Given the description of an element on the screen output the (x, y) to click on. 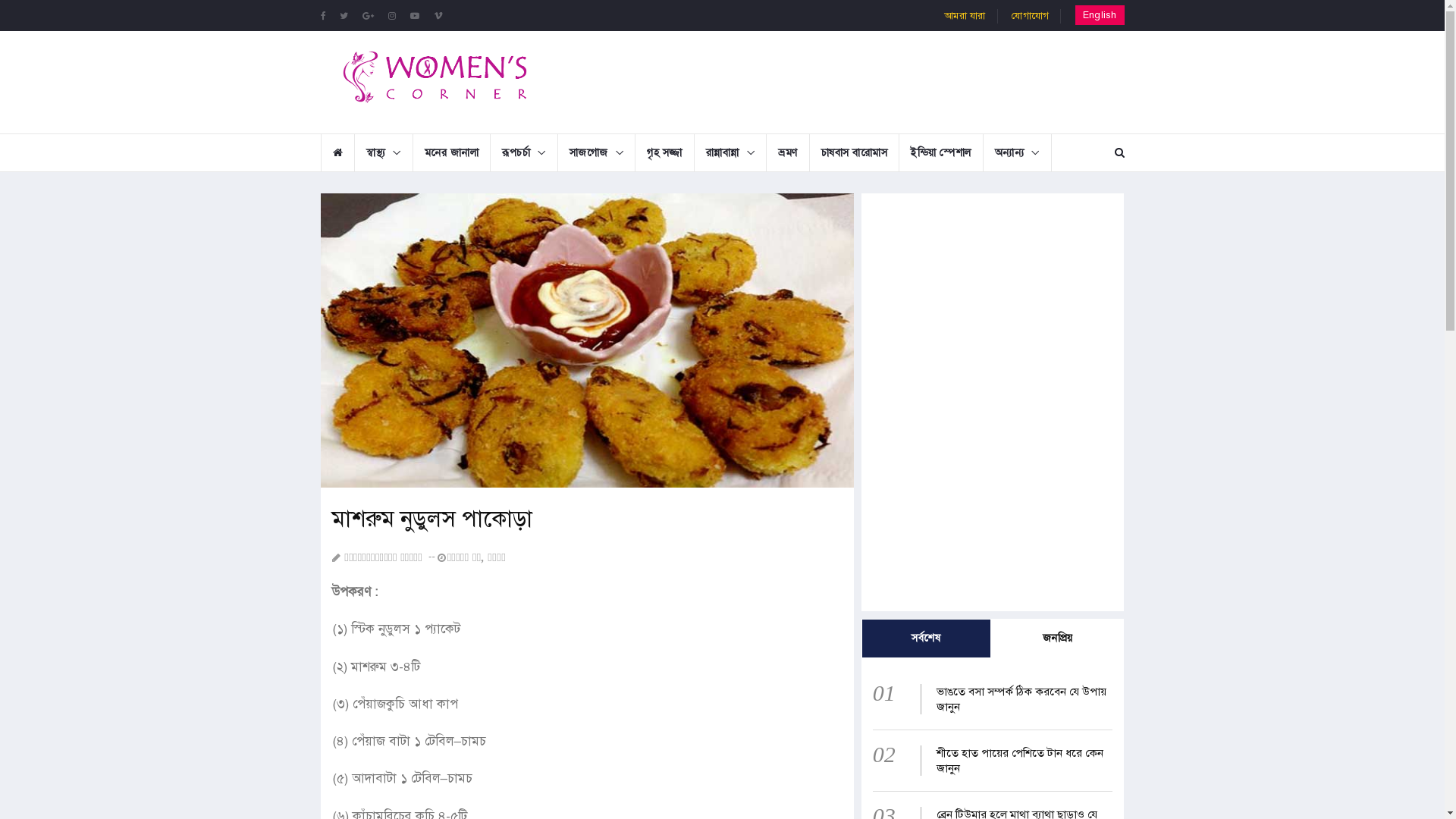
English Element type: text (1099, 15)
Advertisement Element type: hover (847, 80)
Advertisement Element type: hover (992, 305)
